Given the description of an element on the screen output the (x, y) to click on. 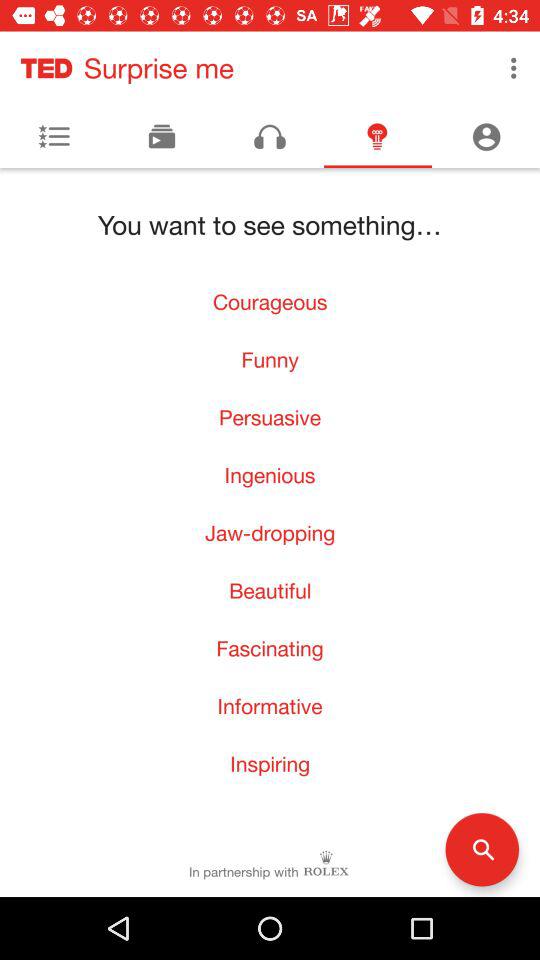
press the item below ingenious icon (270, 532)
